Given the description of an element on the screen output the (x, y) to click on. 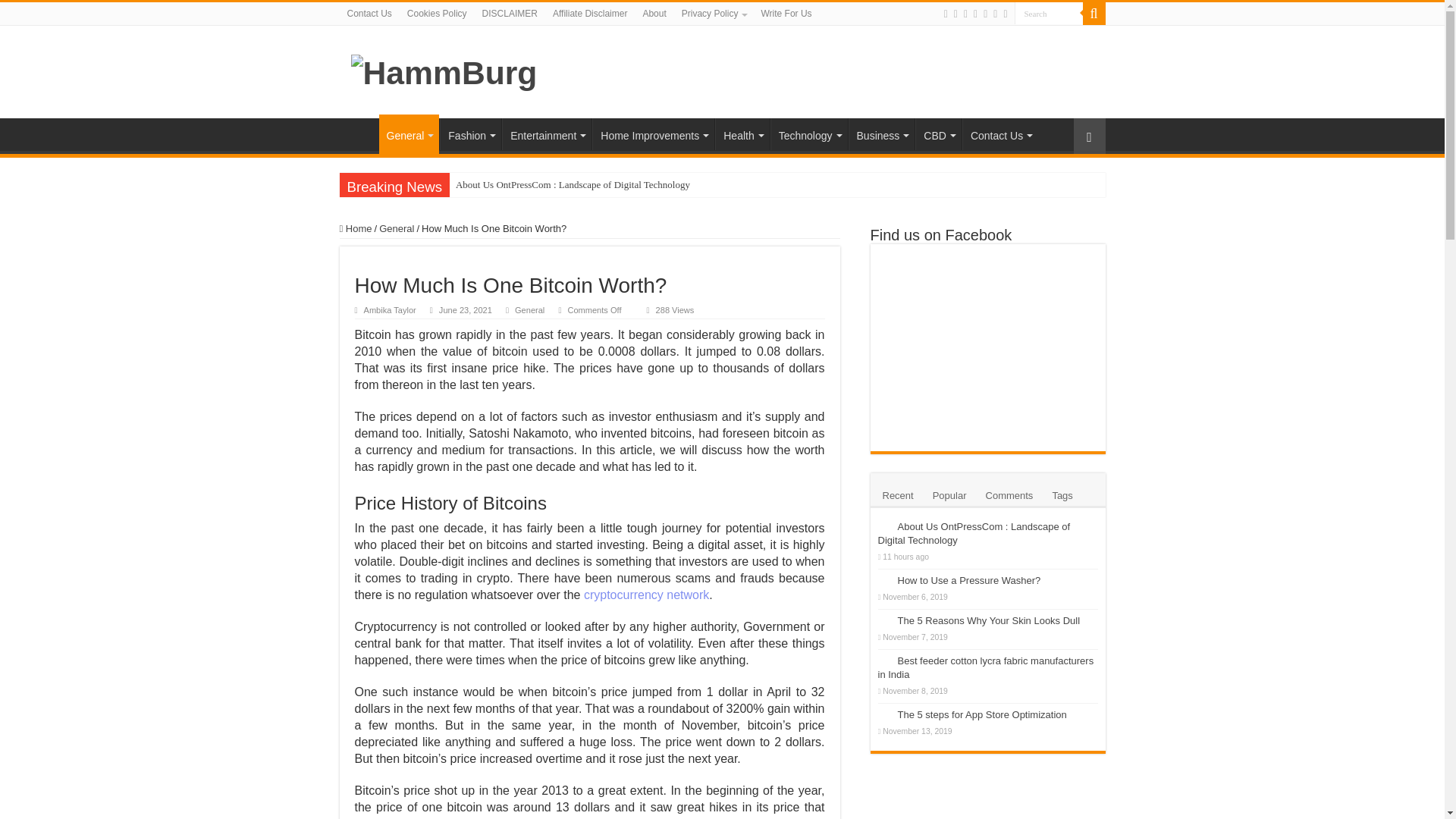
Contact Us (368, 13)
Search (1048, 13)
Affiliate Disclaimer (589, 13)
General (408, 133)
Search (1048, 13)
Search (1094, 13)
Home (358, 133)
DISCLAIMER (509, 13)
About (653, 13)
Search (1048, 13)
Write For Us (785, 13)
Cookies Policy (436, 13)
Privacy Policy (714, 13)
